Given the description of an element on the screen output the (x, y) to click on. 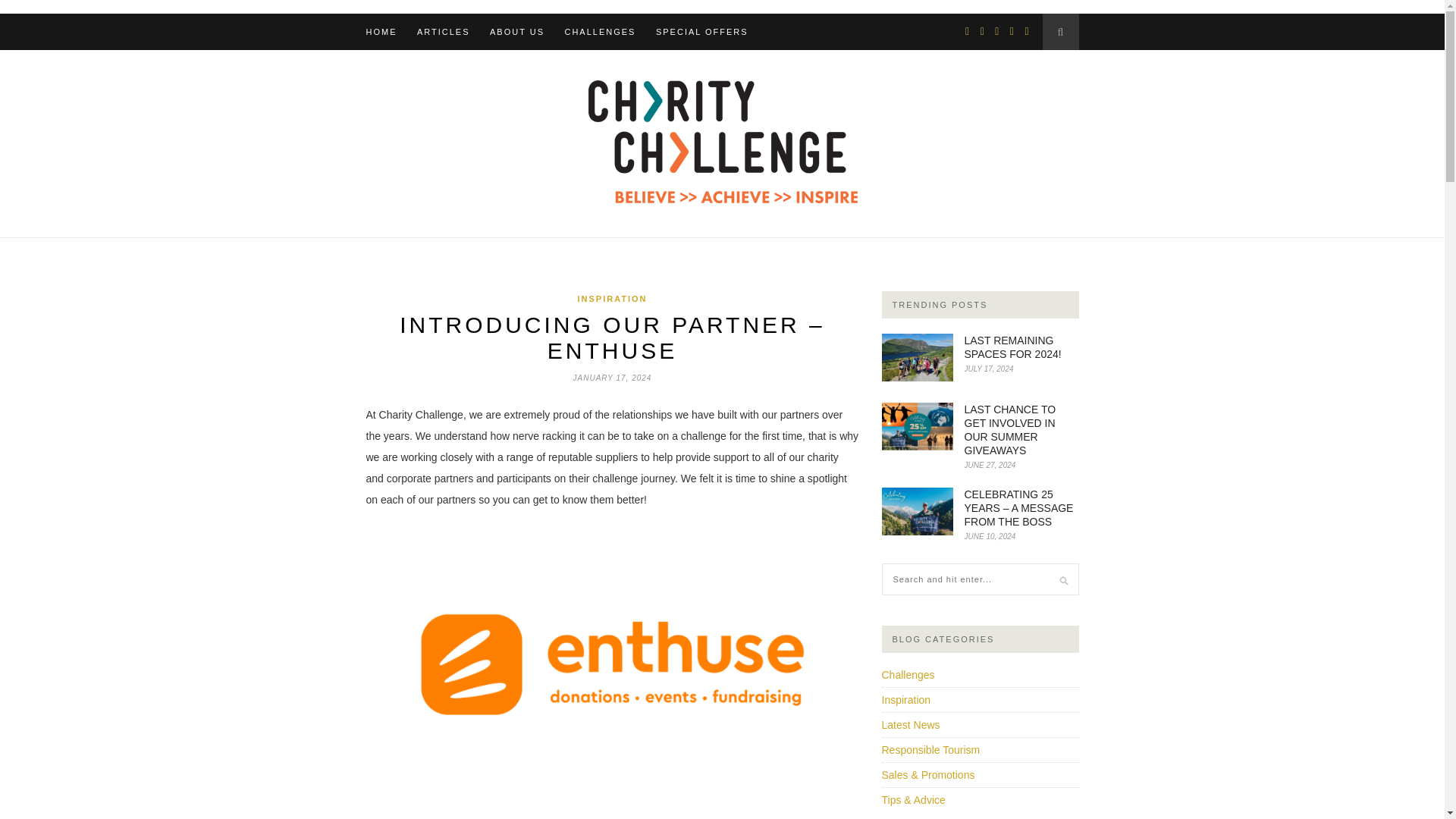
ARTICLES (443, 31)
INSPIRATION (611, 298)
CHALLENGES (599, 31)
View all posts in Inspiration (611, 298)
SPECIAL OFFERS (702, 31)
ABOUT US (516, 31)
